Given the description of an element on the screen output the (x, y) to click on. 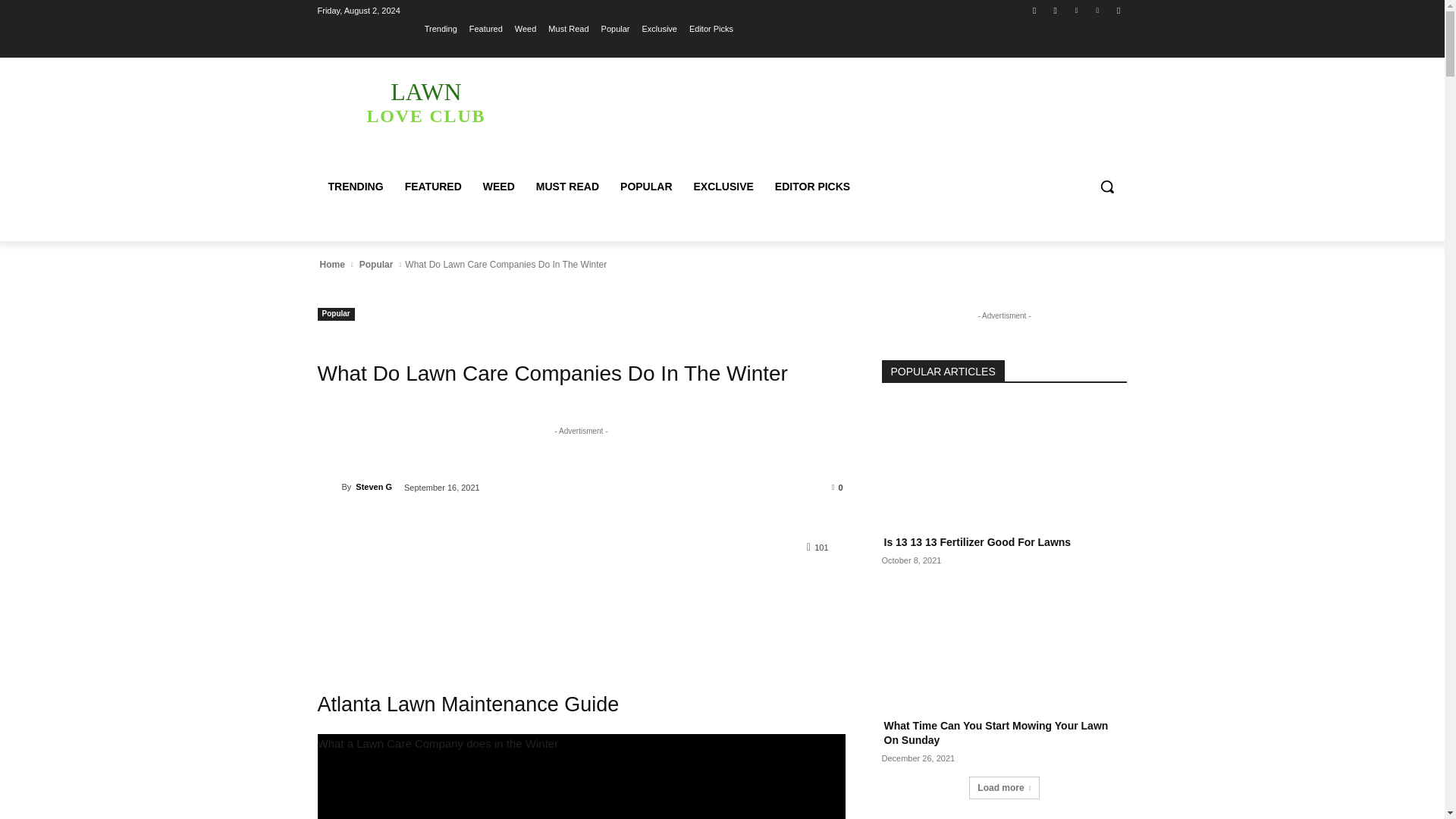
FEATURED (432, 186)
Exclusive (659, 28)
Editor Picks (710, 28)
View all posts in Popular (376, 264)
Weed (526, 28)
EXCLUSIVE (722, 186)
Facebook (425, 101)
Steven G (1034, 9)
Featured (328, 486)
